Given the description of an element on the screen output the (x, y) to click on. 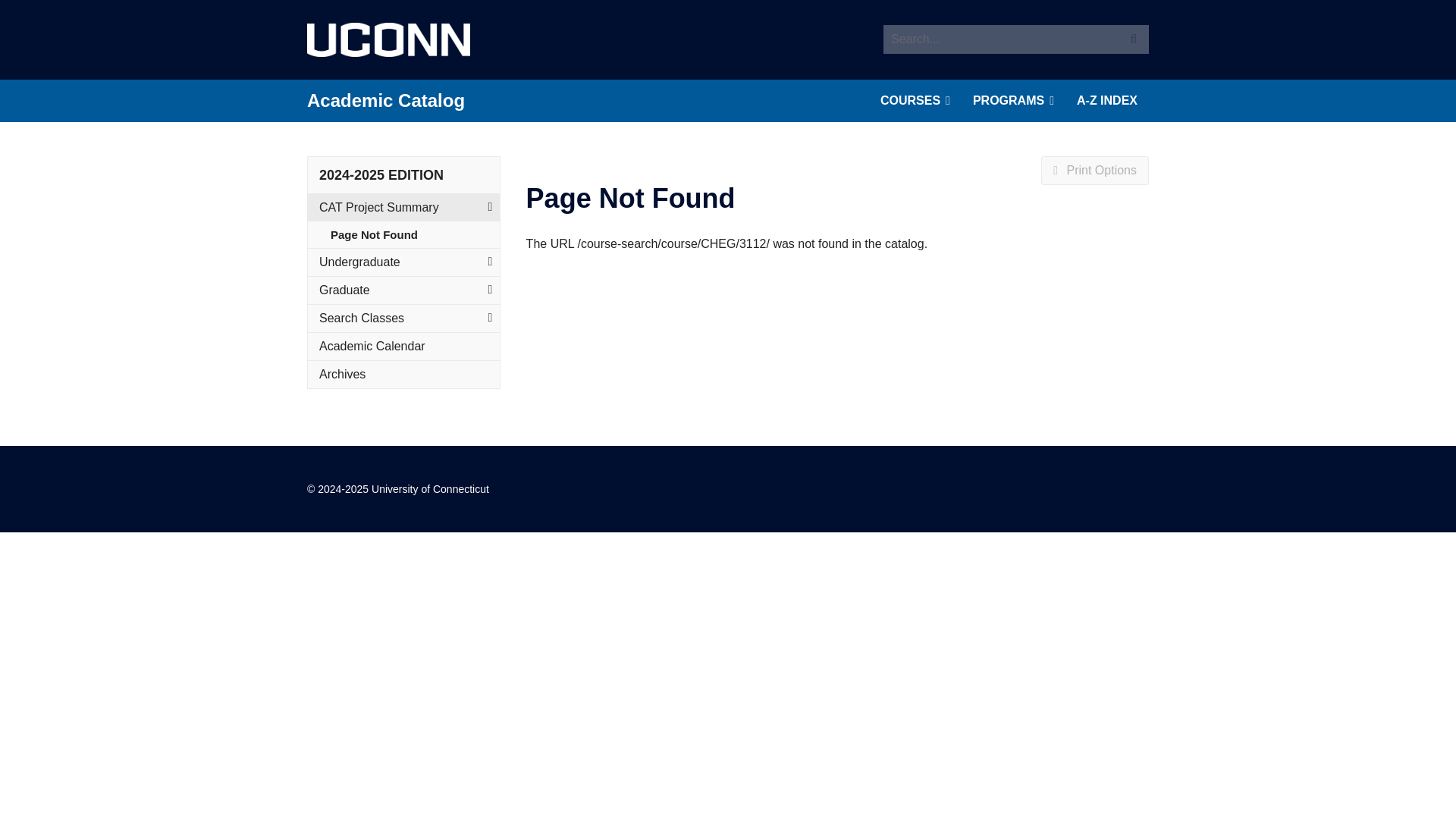
Academic Catalog (385, 100)
Graduate (403, 289)
Undergraduate (403, 262)
PROGRAMS (1012, 100)
Academic Calendar (403, 346)
Submit search (1133, 39)
A-Z INDEX (1106, 100)
Page Not Found (414, 234)
CAT Project Summary (403, 207)
2024-2025 EDITION (381, 174)
